Given the description of an element on the screen output the (x, y) to click on. 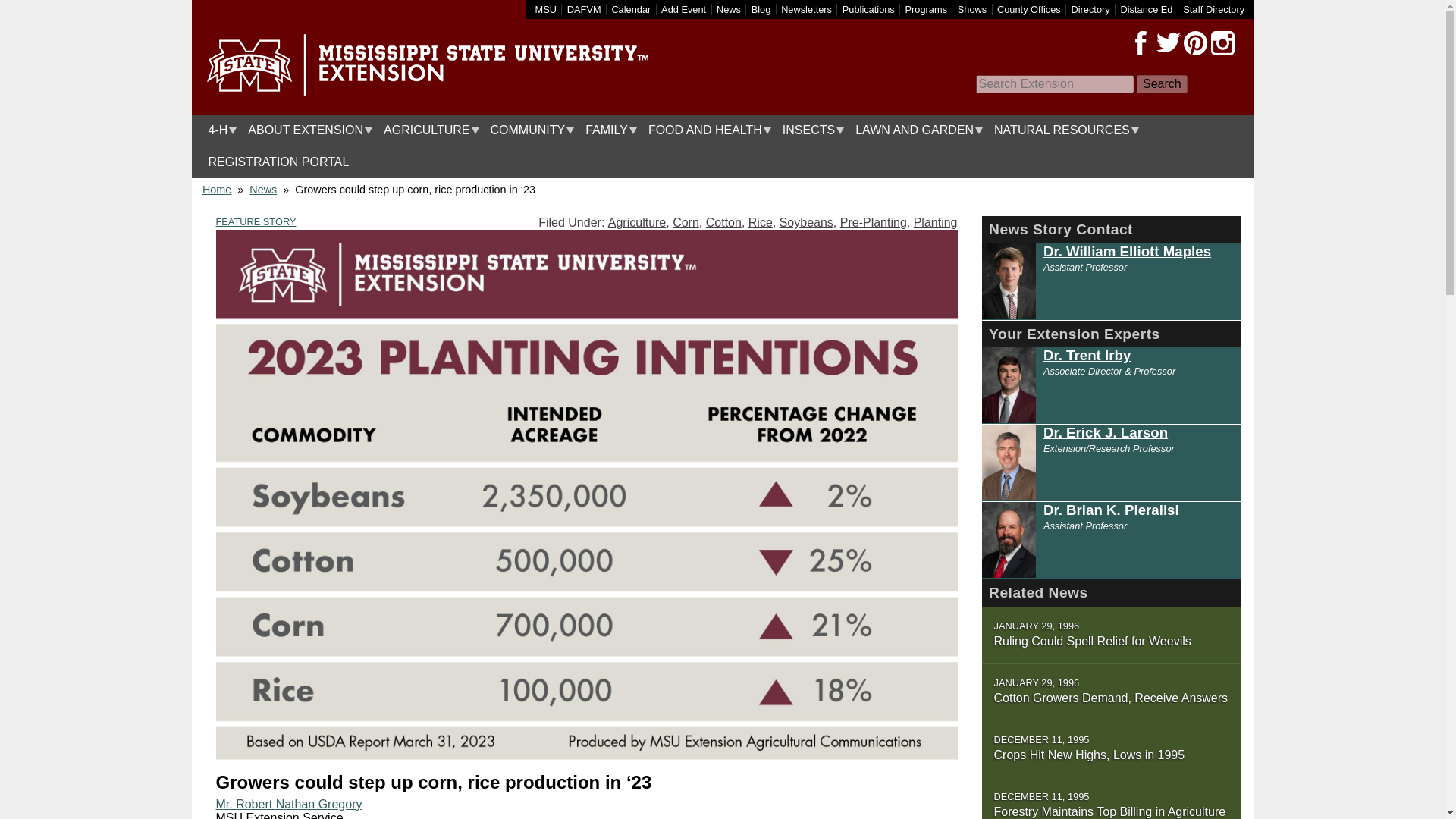
Directory (1089, 9)
List of Extension Programs (926, 9)
News (728, 9)
Distance Ed (1145, 9)
Staff Directory (1213, 9)
DAFVM (584, 9)
Calendar (630, 9)
Search (1162, 84)
Directory of employees of the MSU Extension Service (1213, 9)
